Given the description of an element on the screen output the (x, y) to click on. 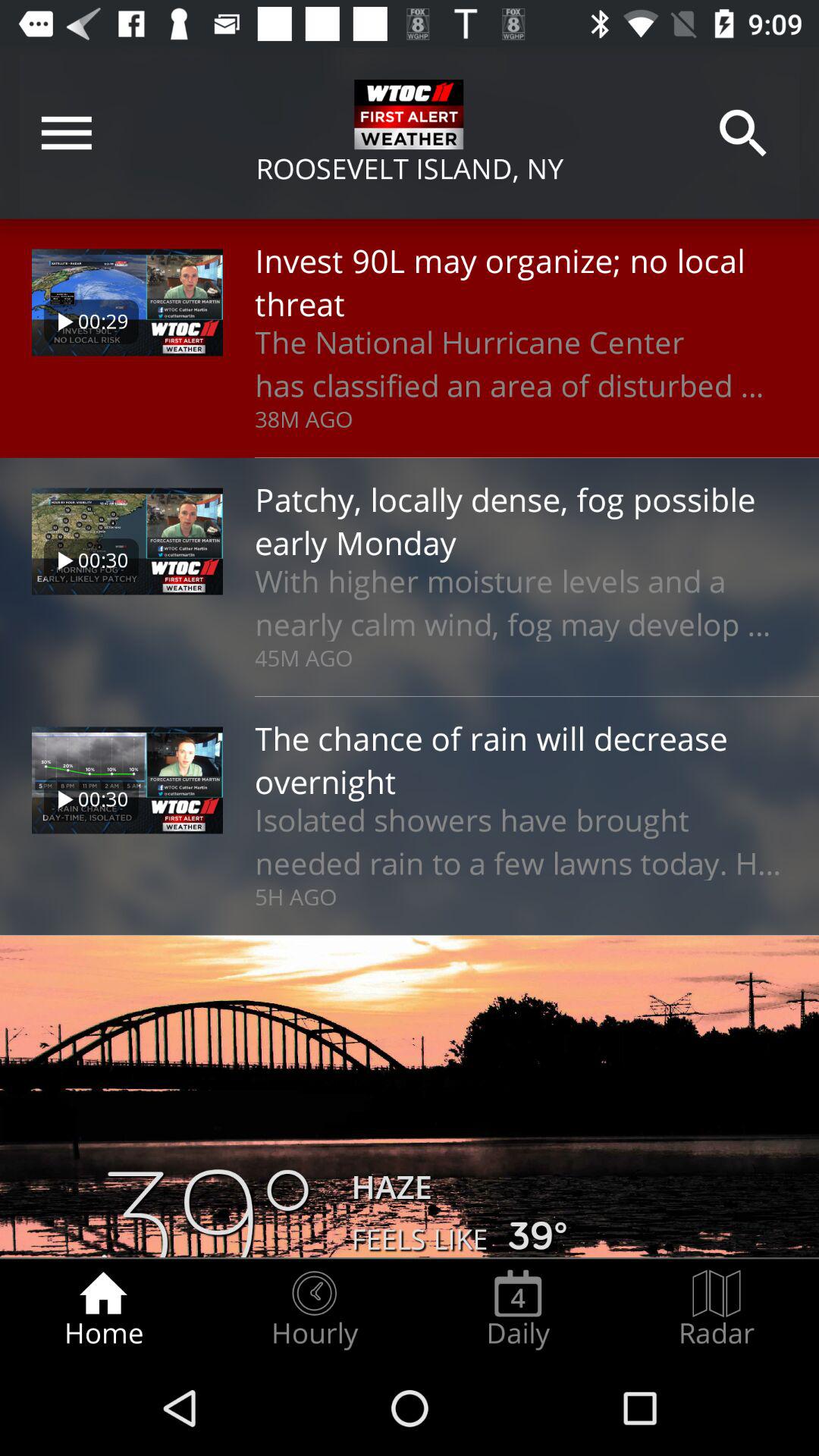
choose item to the right of the daily icon (716, 1309)
